Given the description of an element on the screen output the (x, y) to click on. 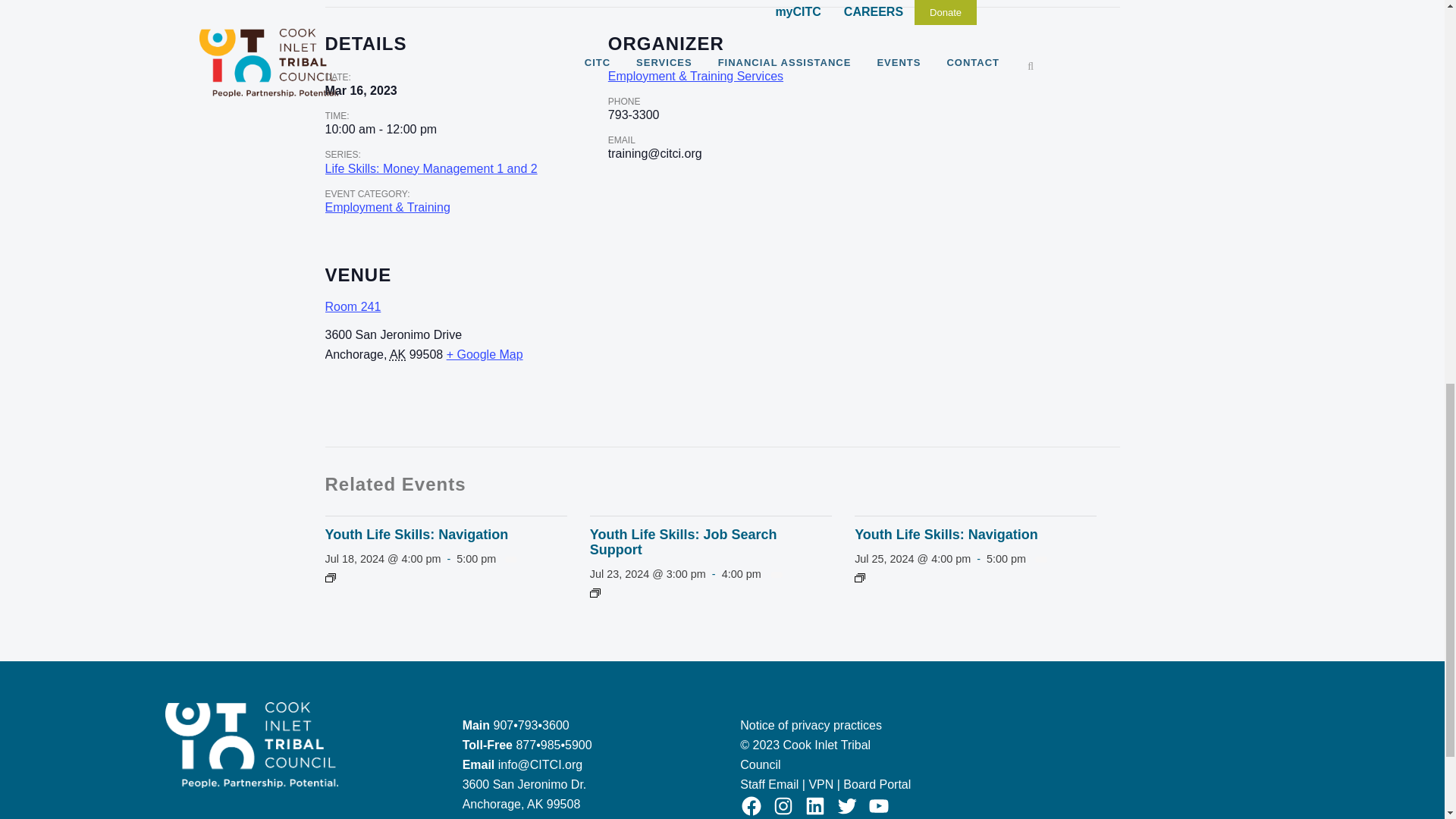
Google maps iframe displaying the address to Room 241 (873, 342)
Click to view a Google Map (484, 354)
Event Series (329, 578)
Alaska (398, 354)
Event Series (594, 593)
Life Skills: Money Management 1 and 2 (430, 168)
2023-03-16 (360, 91)
Event Series (859, 578)
2023-03-16 (380, 129)
